Given the description of an element on the screen output the (x, y) to click on. 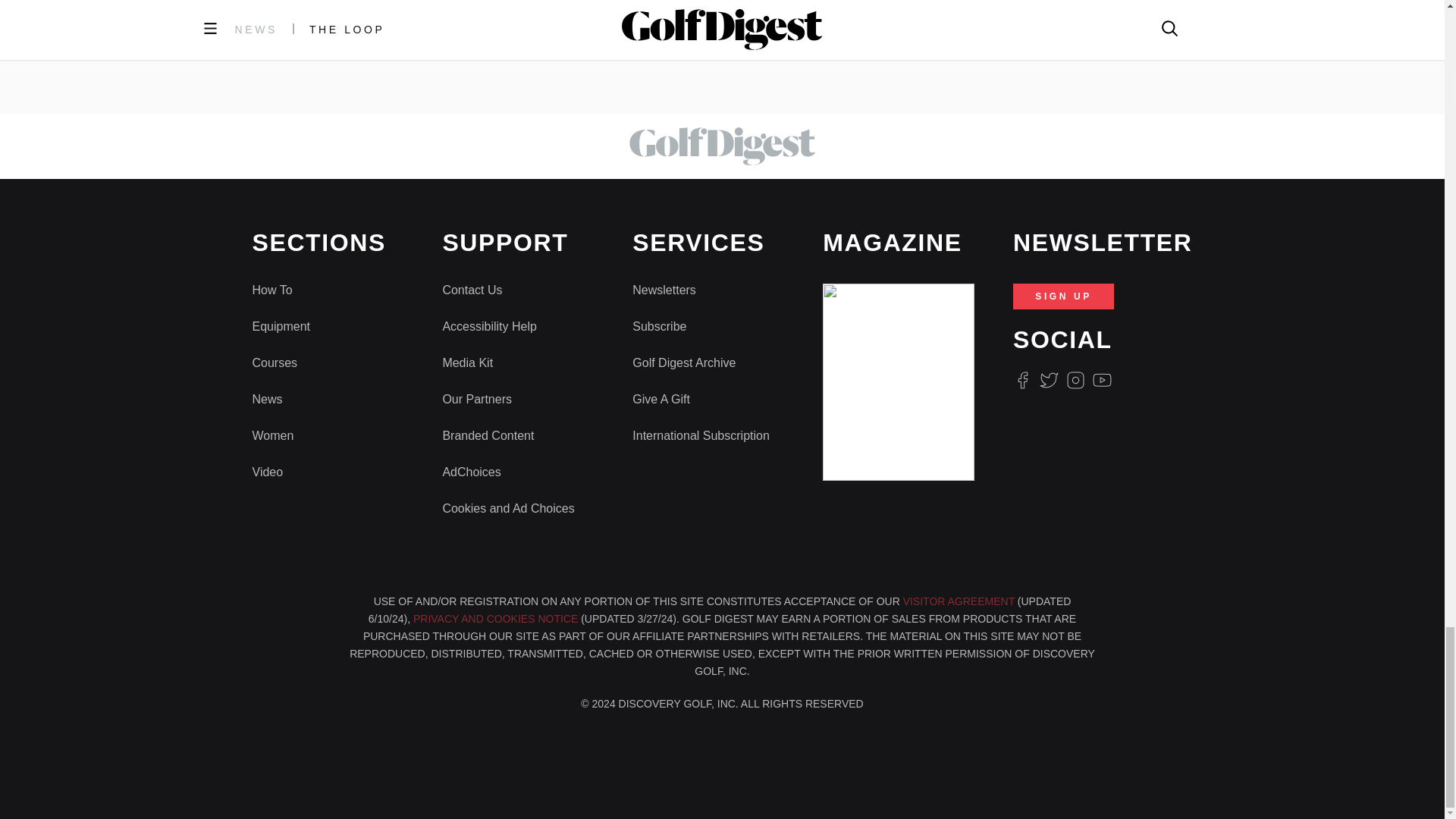
Twitter Logo (1048, 380)
Instagram Logo (1074, 380)
Youtube Icon (1102, 380)
Facebook Logo (1022, 380)
